Given the description of an element on the screen output the (x, y) to click on. 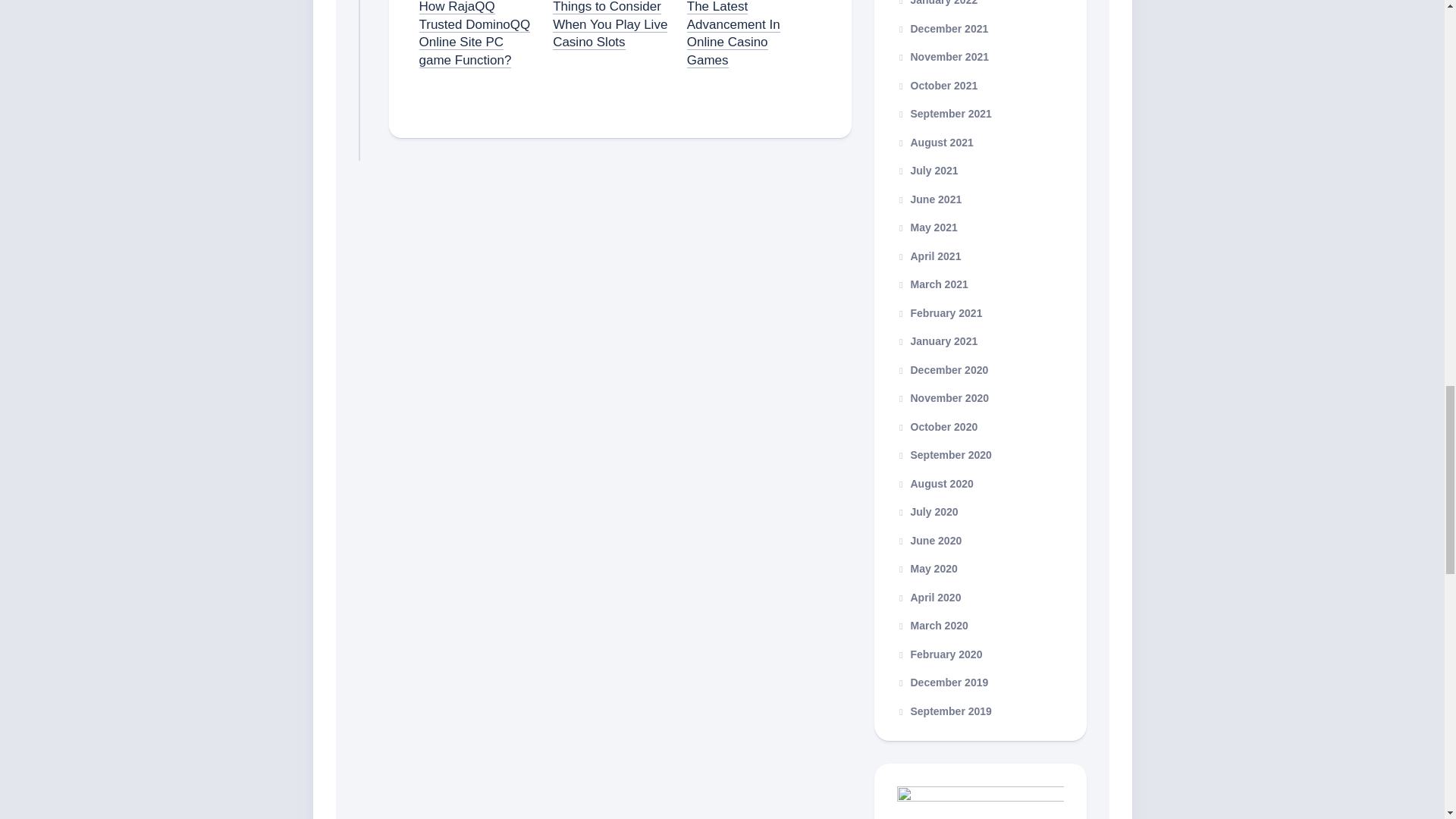
Things to Consider When You Play Live Casino Slots (609, 24)
The Latest Advancement In Online Casino Games (733, 33)
How RajaQQ Trusted DominoQQ Online Site PC game Function? (474, 33)
